Given the description of an element on the screen output the (x, y) to click on. 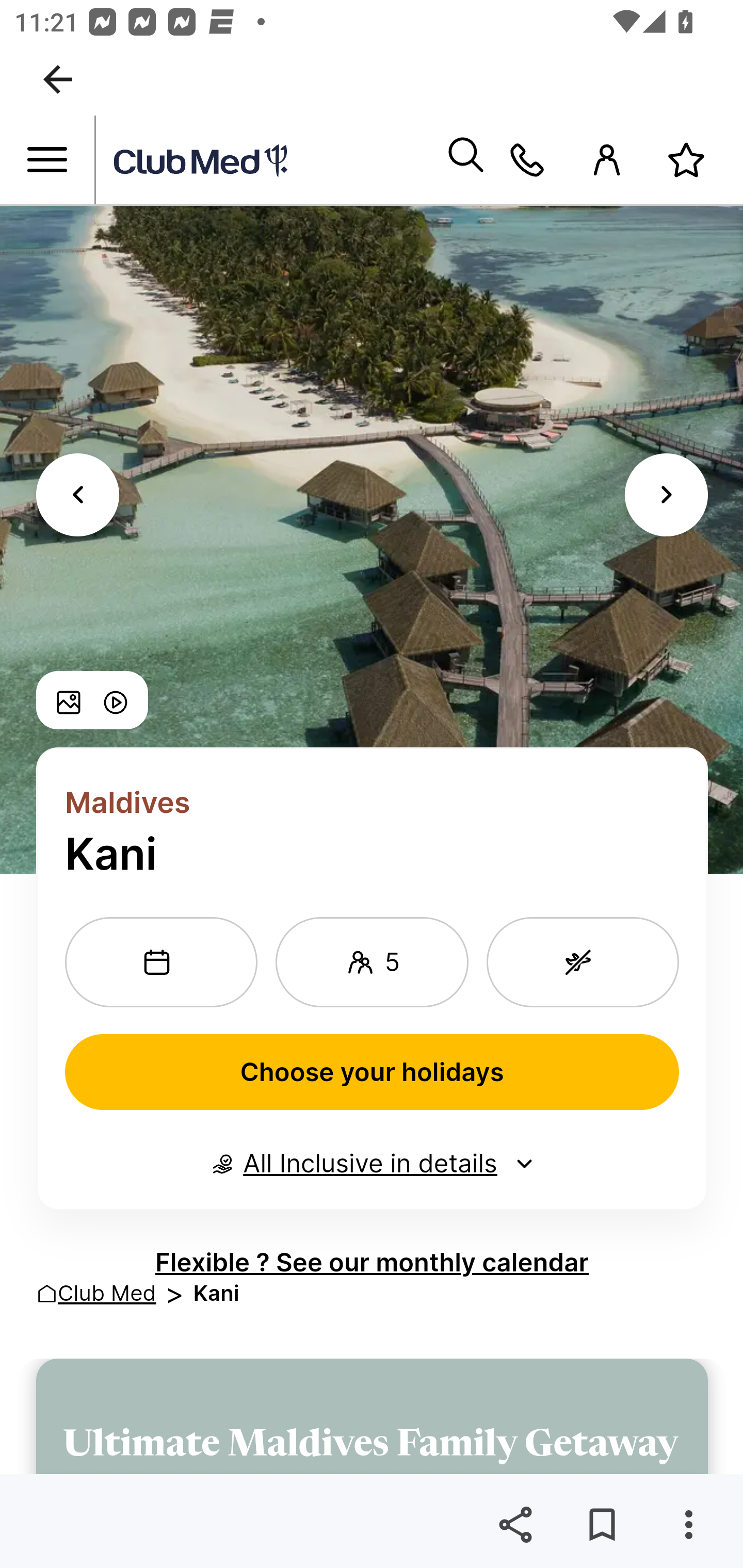
Navigate up (57, 79)
Open main navigation (47, 160)
Club Med Homepage (269, 161)
Search (465, 160)
Your Travel Advisor (526, 160)
Your Account (606, 160)
Previous picture of Kani (77, 494)
Next picture of Kani (666, 494)
photos (19) - Open slideshow gallery (69, 700)
videos (1) - Open slideshow gallery (115, 700)
5 (371, 961)
Choose your holidays (372, 1072)
All Inclusive in details (371, 1163)
Flexible ? See our monthly calendar (371, 1262)
Club Med (106, 1292)
Share (514, 1524)
Save for later (601, 1524)
More options (688, 1524)
